Given the description of an element on the screen output the (x, y) to click on. 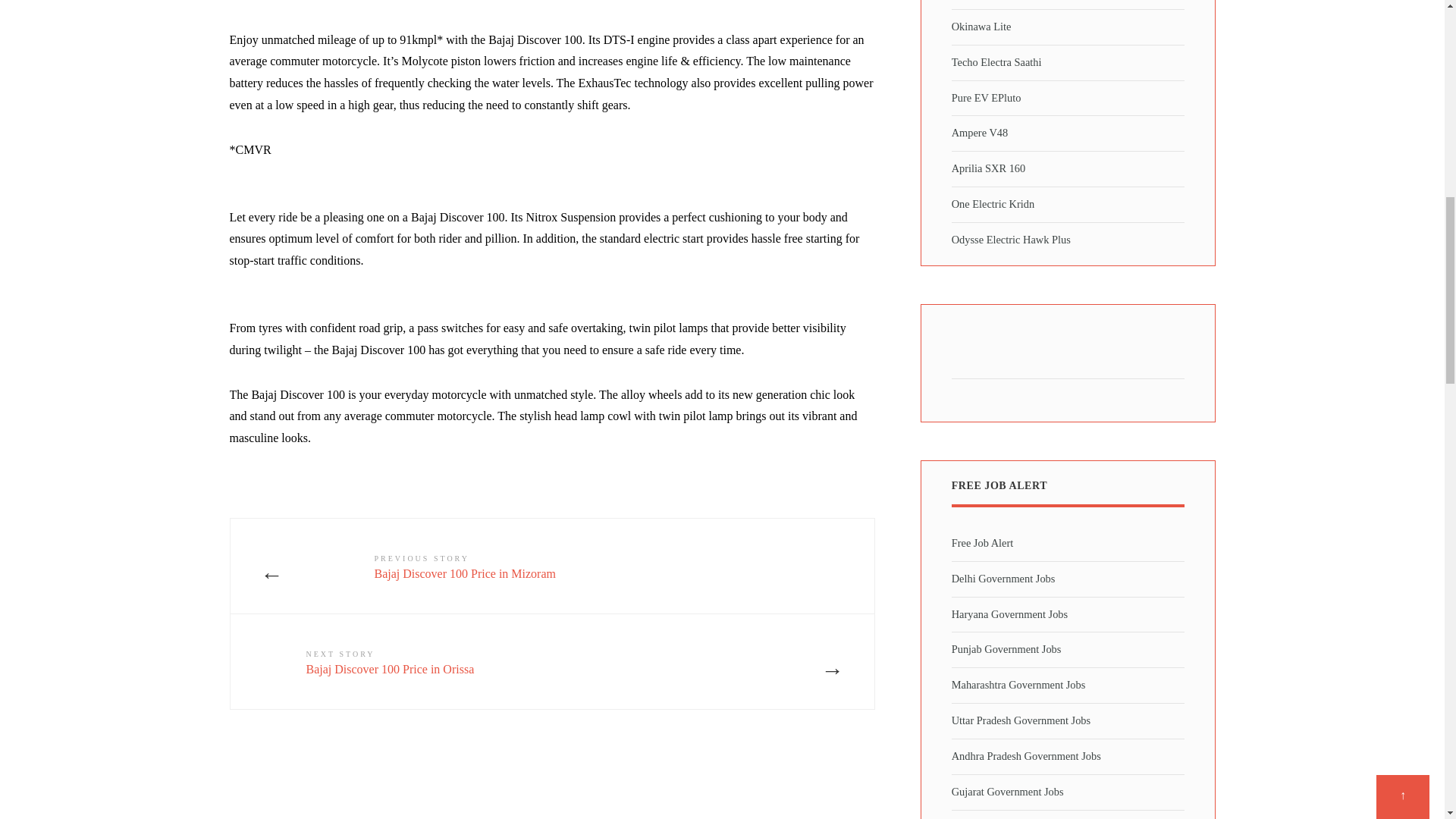
Okinawa Lite (981, 26)
Scroll to top (1402, 1)
Techo Electra Saathi (997, 61)
Pure EV EPluto (483, 661)
